Given the description of an element on the screen output the (x, y) to click on. 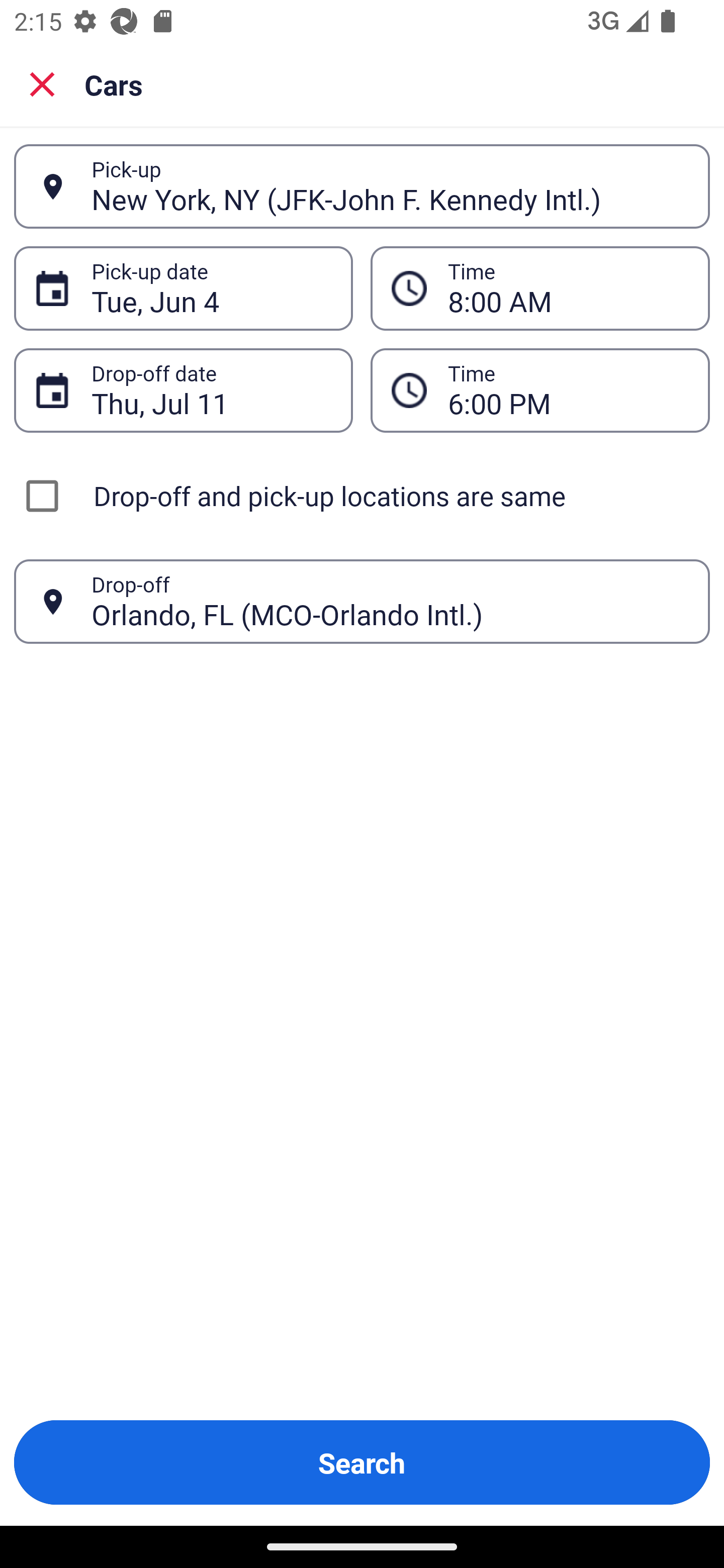
Close search screen (41, 83)
New York, NY (JFK-John F. Kennedy Intl.) Pick-up (361, 186)
New York, NY (JFK-John F. Kennedy Intl.) (389, 186)
Tue, Jun 4 Pick-up date (183, 288)
8:00 AM (540, 288)
Tue, Jun 4 (211, 288)
8:00 AM (568, 288)
Thu, Jul 11 Drop-off date (183, 390)
6:00 PM (540, 390)
Thu, Jul 11 (211, 390)
6:00 PM (568, 390)
Drop-off and pick-up locations are same (361, 495)
Orlando, FL (MCO-Orlando Intl.) Drop-off (361, 601)
Orlando, FL (MCO-Orlando Intl.) (389, 601)
Search Button Search (361, 1462)
